Given the description of an element on the screen output the (x, y) to click on. 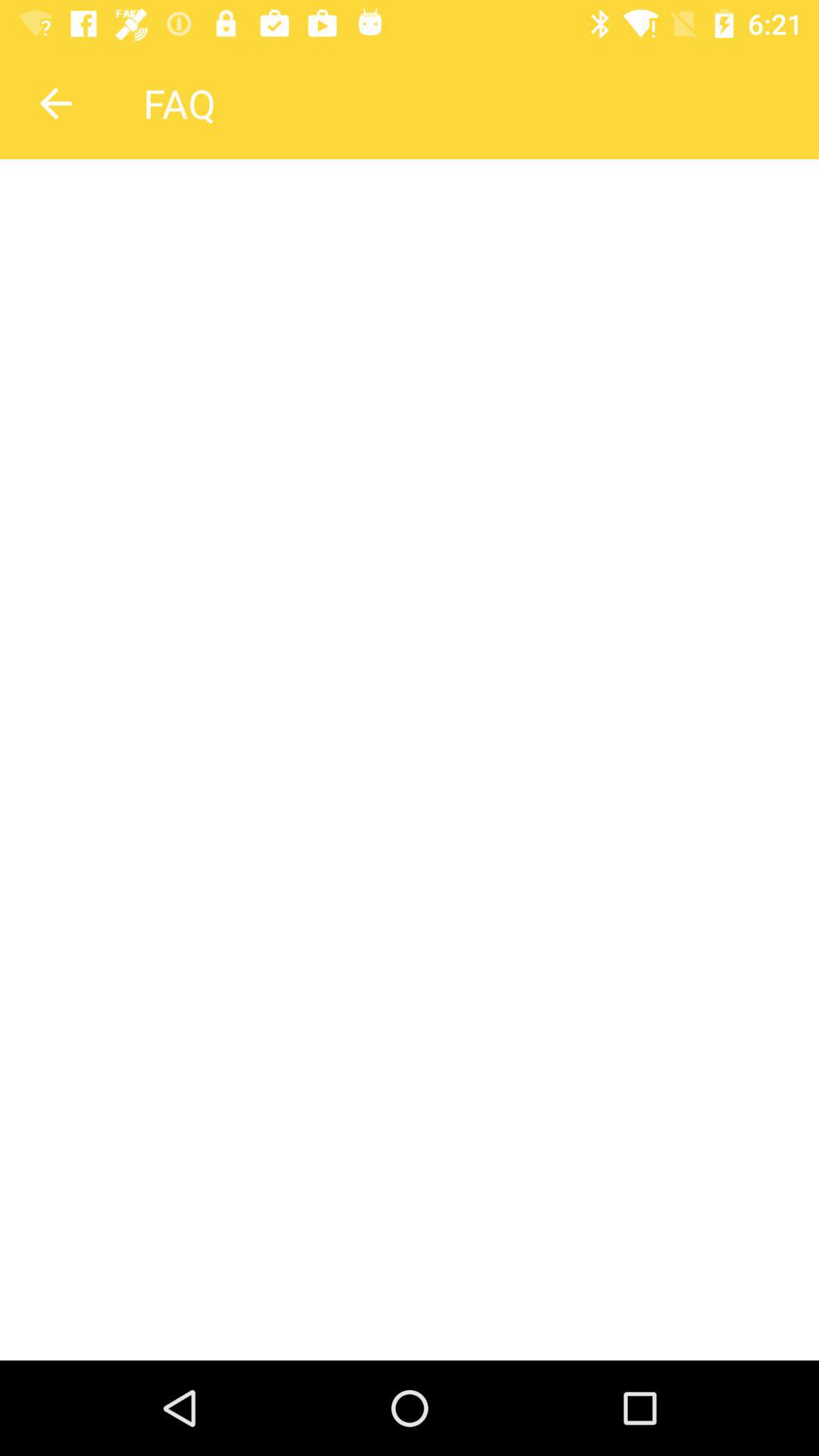
turn off icon to the left of faq item (55, 103)
